Given the description of an element on the screen output the (x, y) to click on. 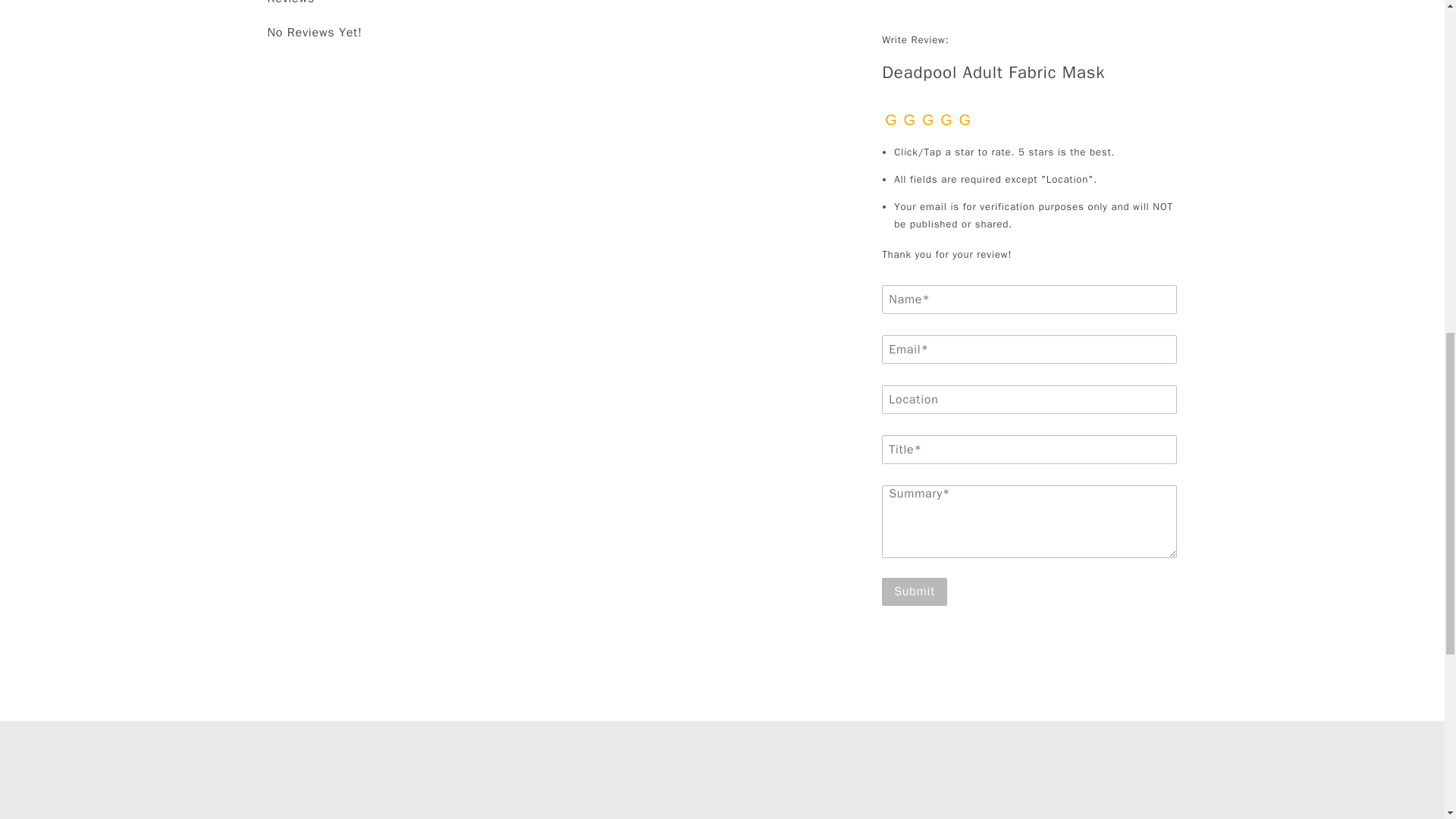
Submit (914, 592)
